Given the description of an element on the screen output the (x, y) to click on. 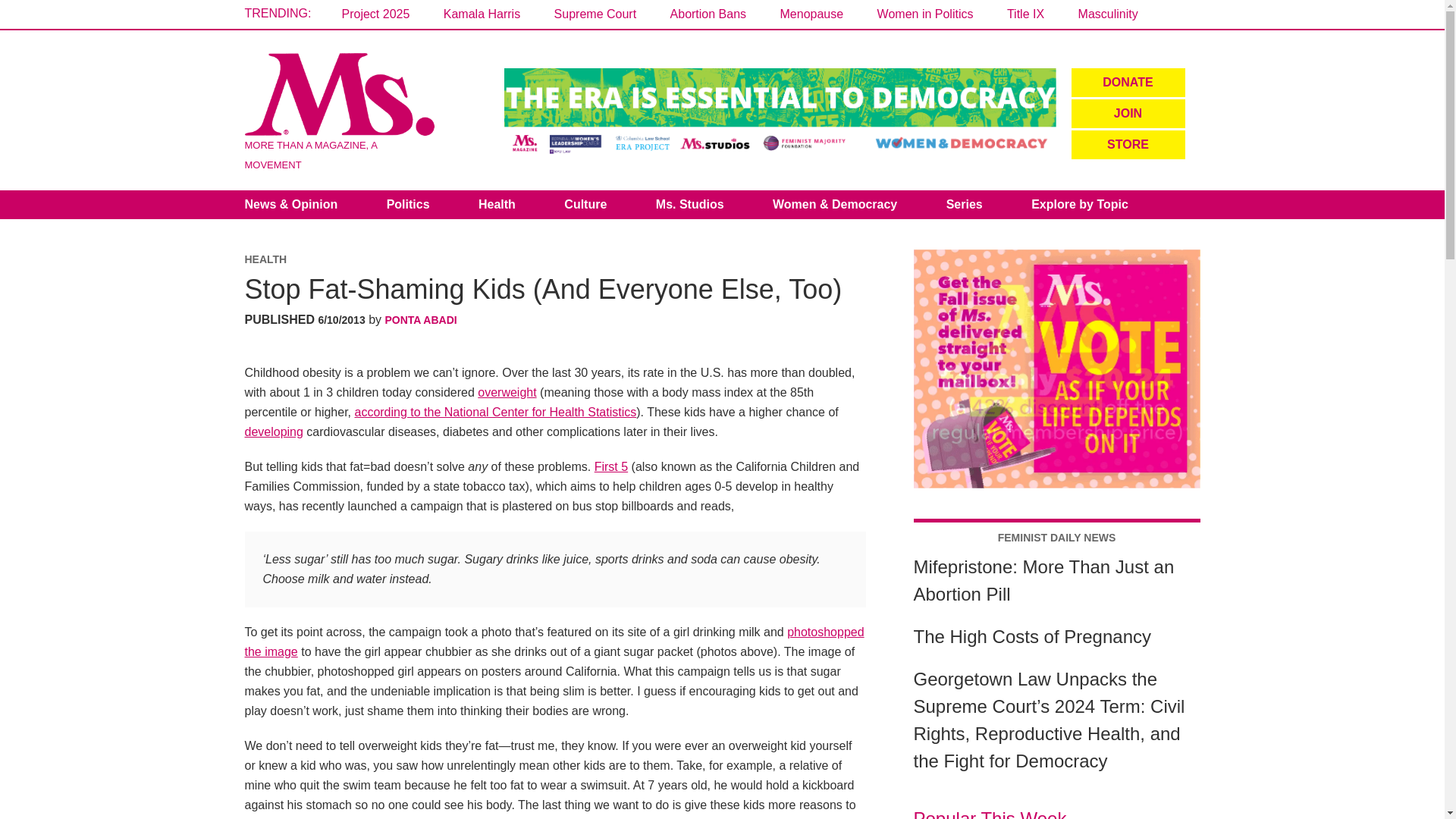
according to the National Center for Health Statistics (494, 411)
First 5 (610, 466)
Ms. Studios (689, 204)
Health (496, 204)
developing (273, 431)
Abortion Bans (707, 13)
HEALTH (265, 259)
Posts by Ponta Abadi (421, 319)
photoshopped the image (553, 641)
Politics (408, 204)
Kamala Harris (481, 13)
Title IX (1025, 13)
JOIN (1127, 113)
STORE (1127, 144)
overweight (506, 391)
